Given the description of an element on the screen output the (x, y) to click on. 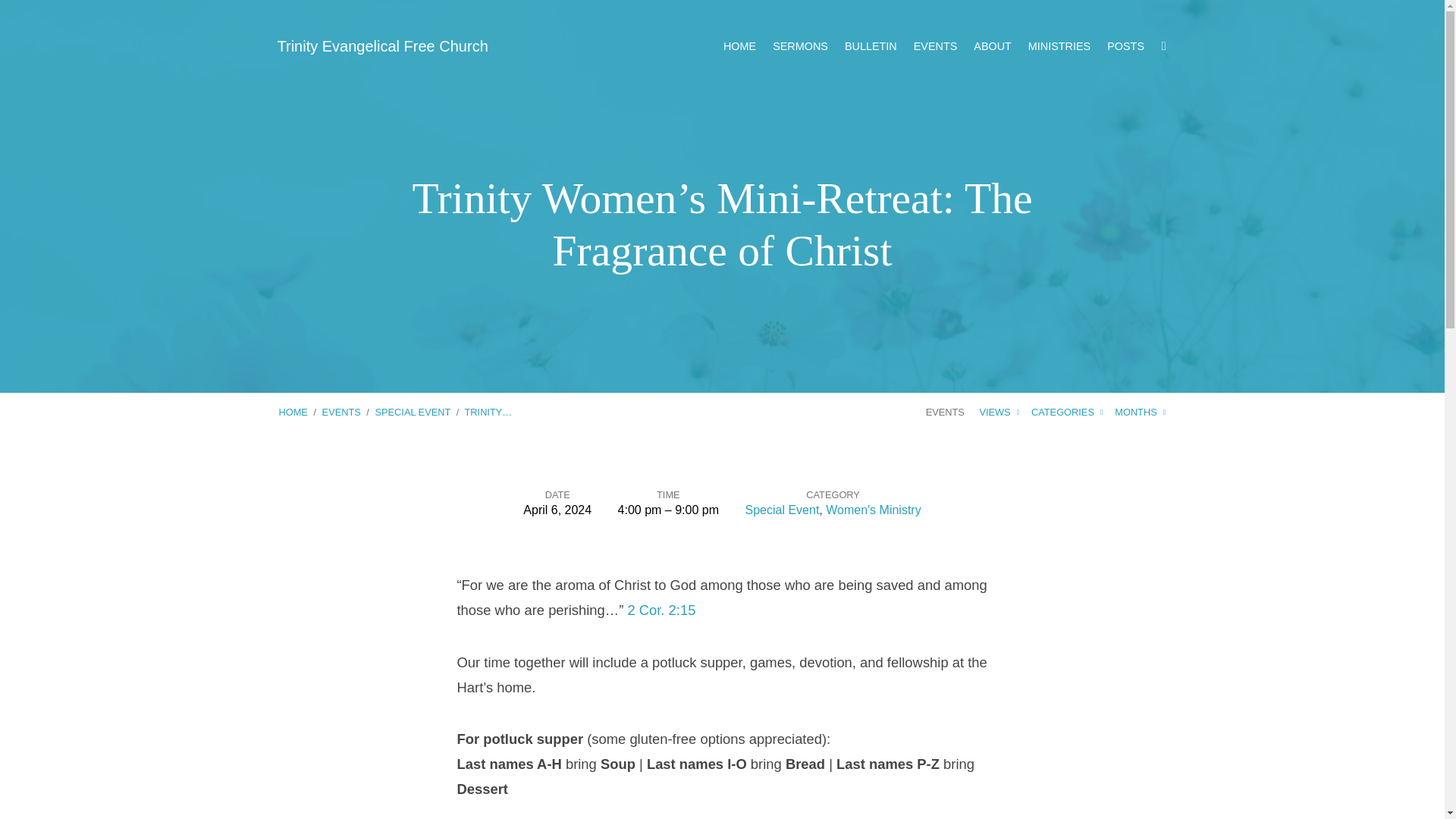
EVENTS (944, 411)
SPECIAL EVENT (411, 411)
SERMONS (800, 45)
MINISTRIES (1058, 45)
POSTS (1125, 45)
HOME (739, 45)
HOME (293, 411)
EVENTS (341, 411)
EVENTS (936, 45)
VIEWS (998, 411)
ABOUT (992, 45)
Trinity Evangelical Free Church (382, 45)
BULLETIN (870, 45)
